Given the description of an element on the screen output the (x, y) to click on. 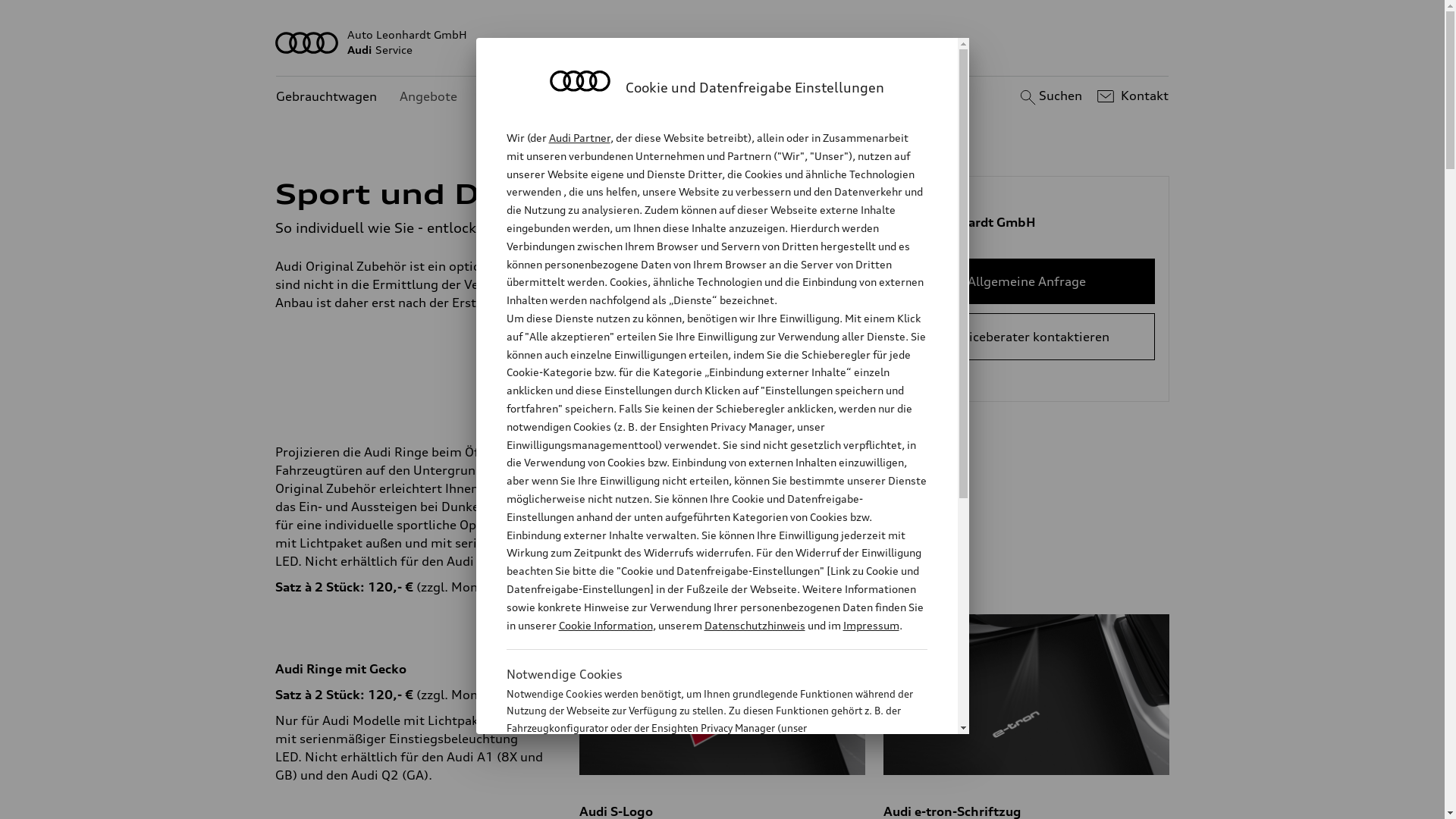
Auto Leonhardt GmbH
AudiService Element type: text (722, 42)
Allgemeine Anfrage Element type: text (1025, 281)
Kontakt Element type: text (1130, 96)
Suchen Element type: text (1049, 96)
Serviceberater kontaktieren Element type: text (1025, 336)
Kundenservice Element type: text (523, 96)
Cookie Information Element type: text (700, 802)
Angebote Element type: text (428, 96)
Datenschutzhinweis Element type: text (753, 624)
Gebrauchtwagen Element type: text (326, 96)
Cookie Information Element type: text (605, 624)
Audi Partner Element type: text (579, 137)
Impressum Element type: text (871, 624)
